Given the description of an element on the screen output the (x, y) to click on. 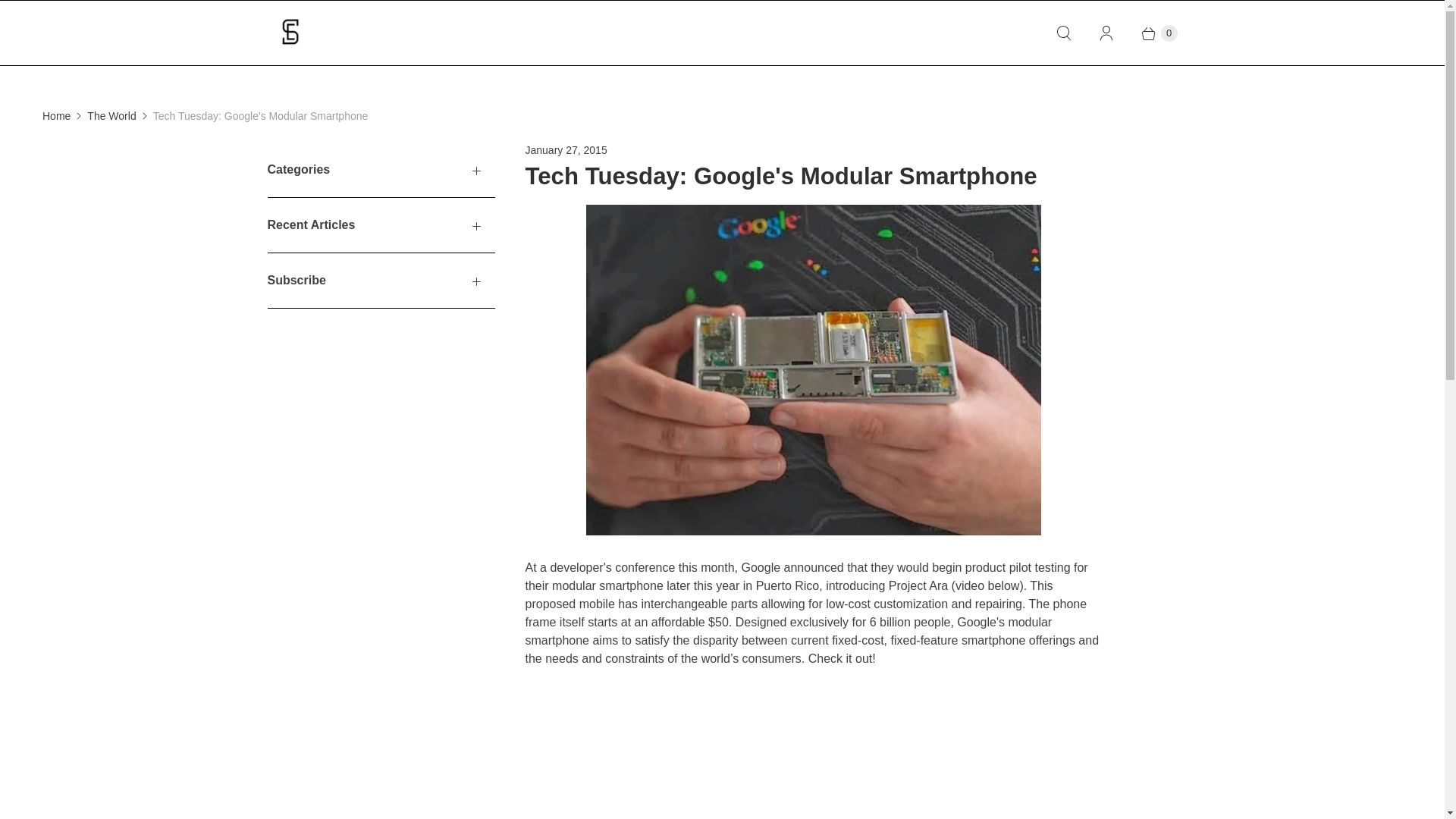
0 (1151, 33)
Categories (380, 169)
The World (111, 116)
Home (55, 116)
